Given the description of an element on the screen output the (x, y) to click on. 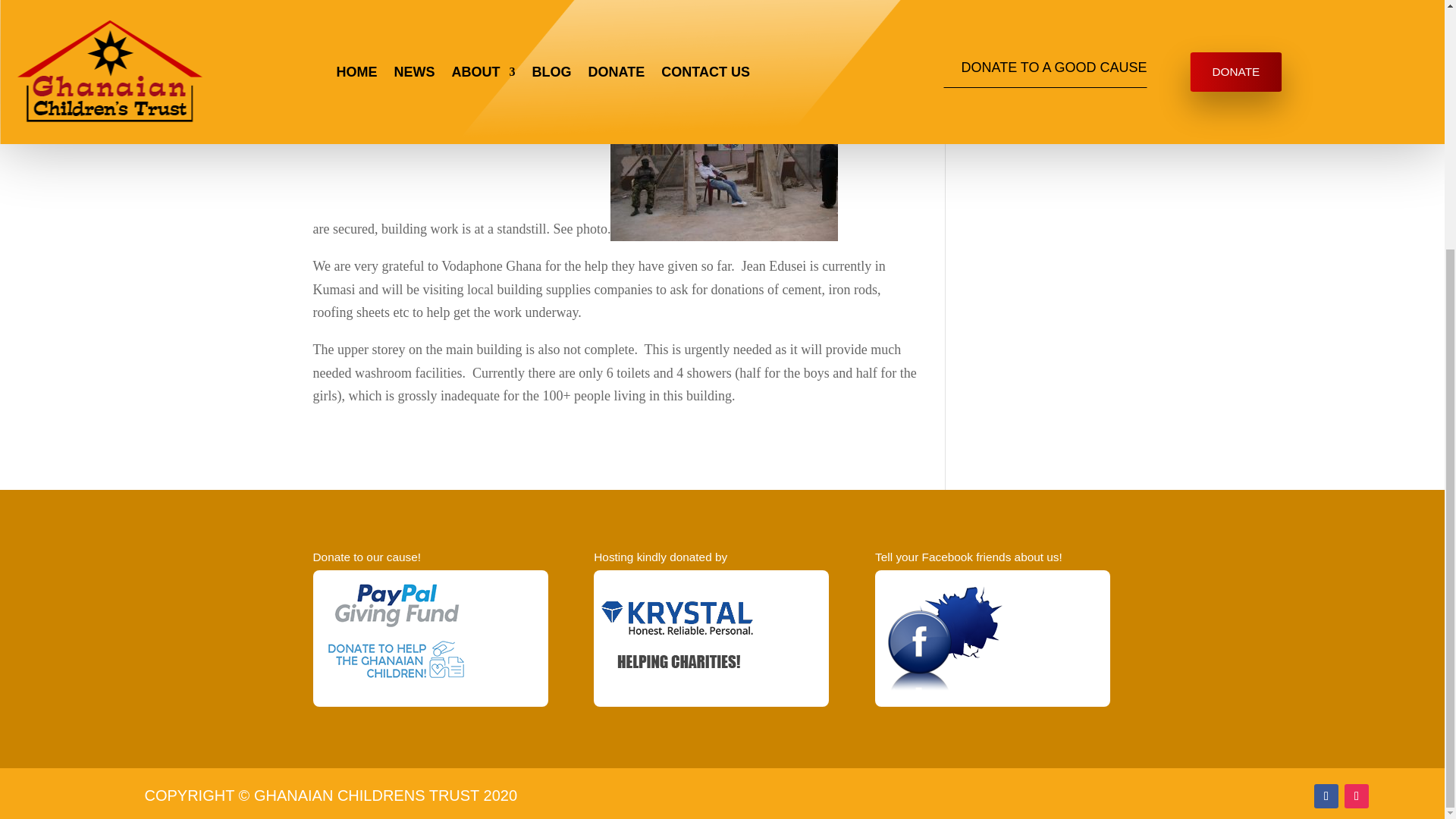
Building work at a standstill (724, 155)
Check out our Facebook Page! (957, 686)
Follow on Instagram (1355, 795)
Follow on Facebook (1326, 795)
